Given the description of an element on the screen output the (x, y) to click on. 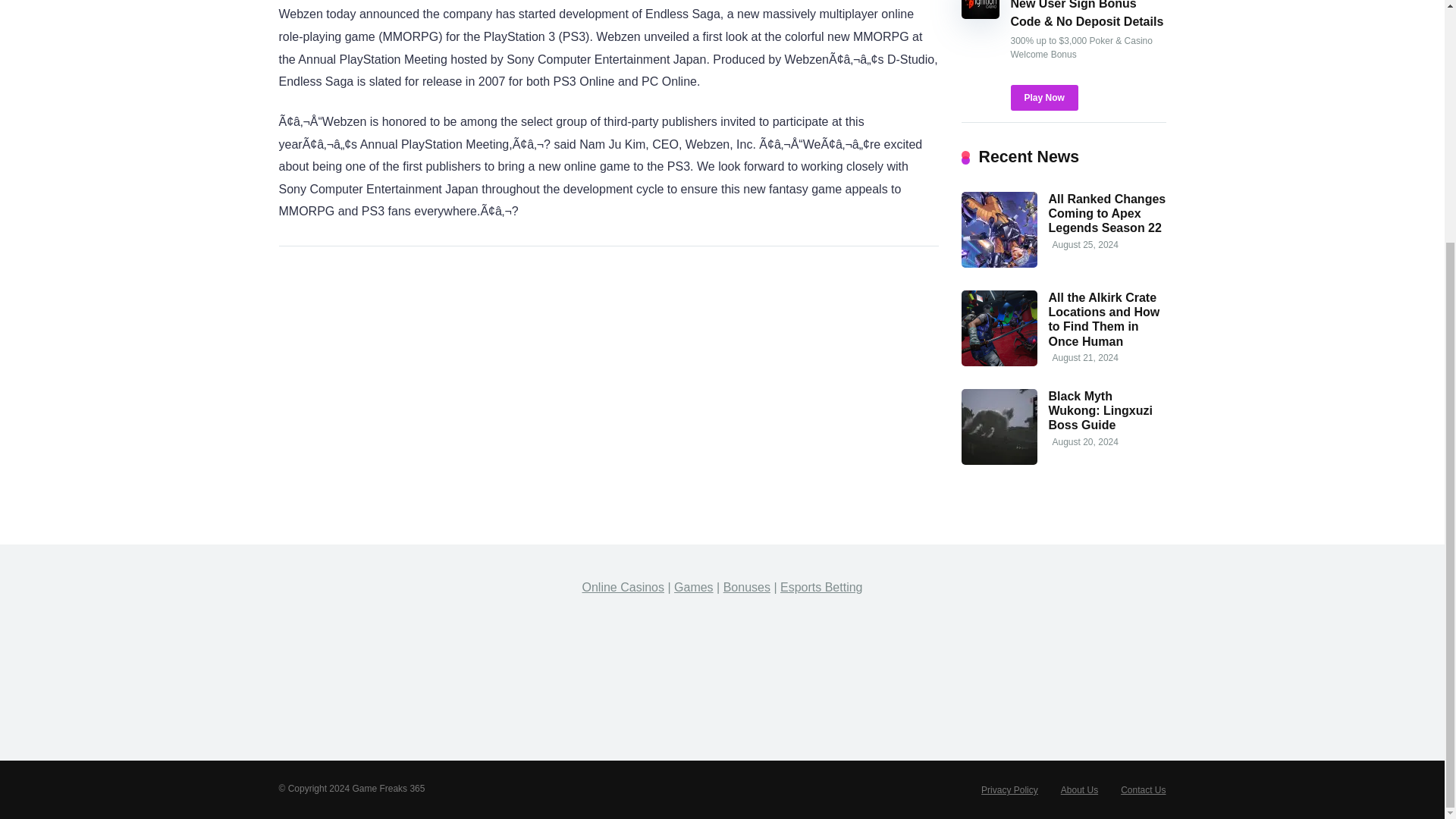
All Ranked Changes Coming to Apex Legends Season 22 (998, 263)
Play Now (1043, 97)
All Ranked Changes Coming to Apex Legends Season 22 (1107, 213)
Black Myth Wukong: Lingxuzi Boss Guide (998, 460)
All Ranked Changes Coming to Apex Legends Season 22 (1107, 213)
Play Now (1043, 97)
Black Myth Wukong: Lingxuzi Boss Guide (1099, 410)
